Given the description of an element on the screen output the (x, y) to click on. 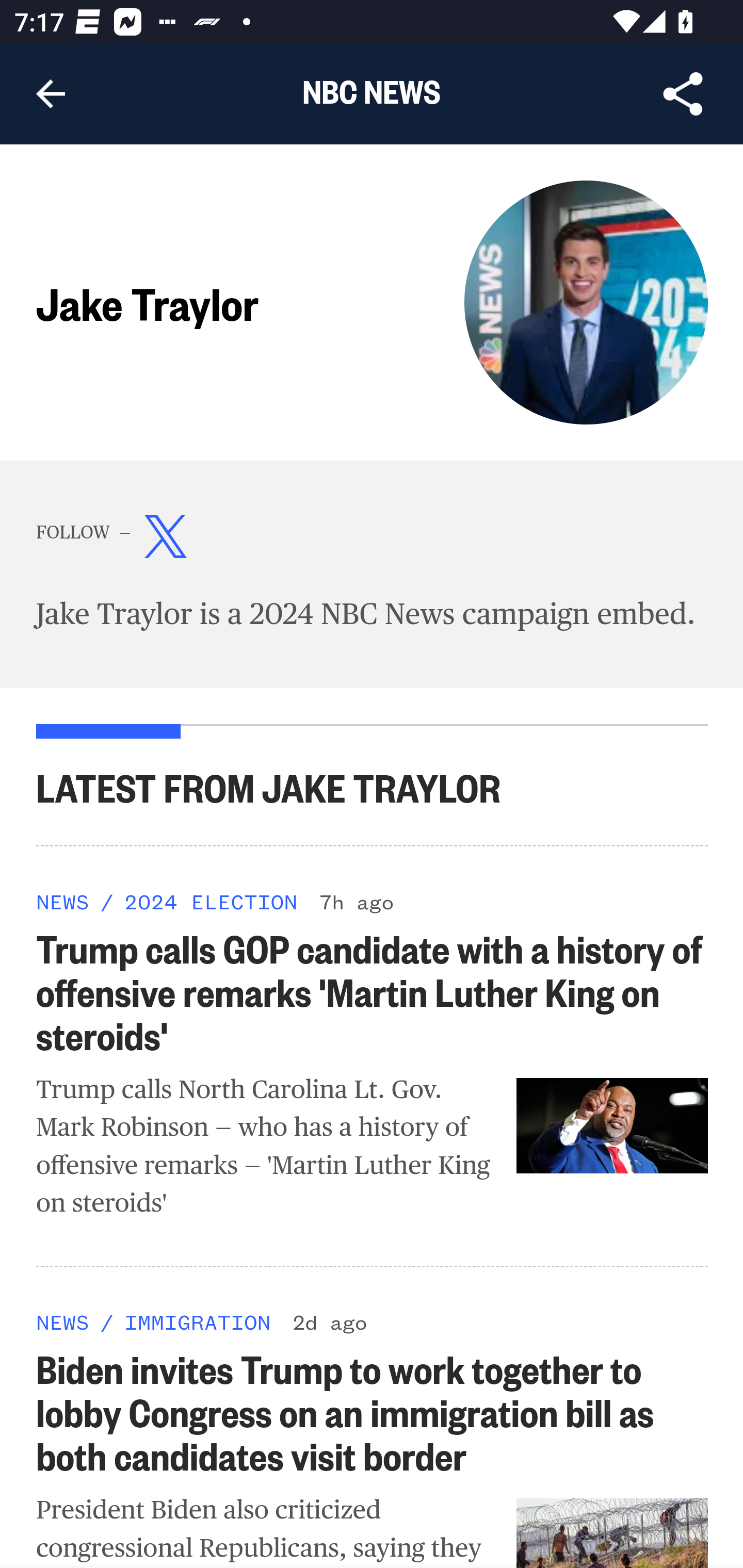
Navigate up (50, 93)
Share Article, button (683, 94)
 (165, 540)
NEWS NEWS NEWS (63, 900)
2024 ELECTION 2024 ELECTION 2024 ELECTION (209, 900)
NEWS NEWS NEWS (63, 1321)
IMMIGRATION IMMIGRATION IMMIGRATION (196, 1321)
